Given the description of an element on the screen output the (x, y) to click on. 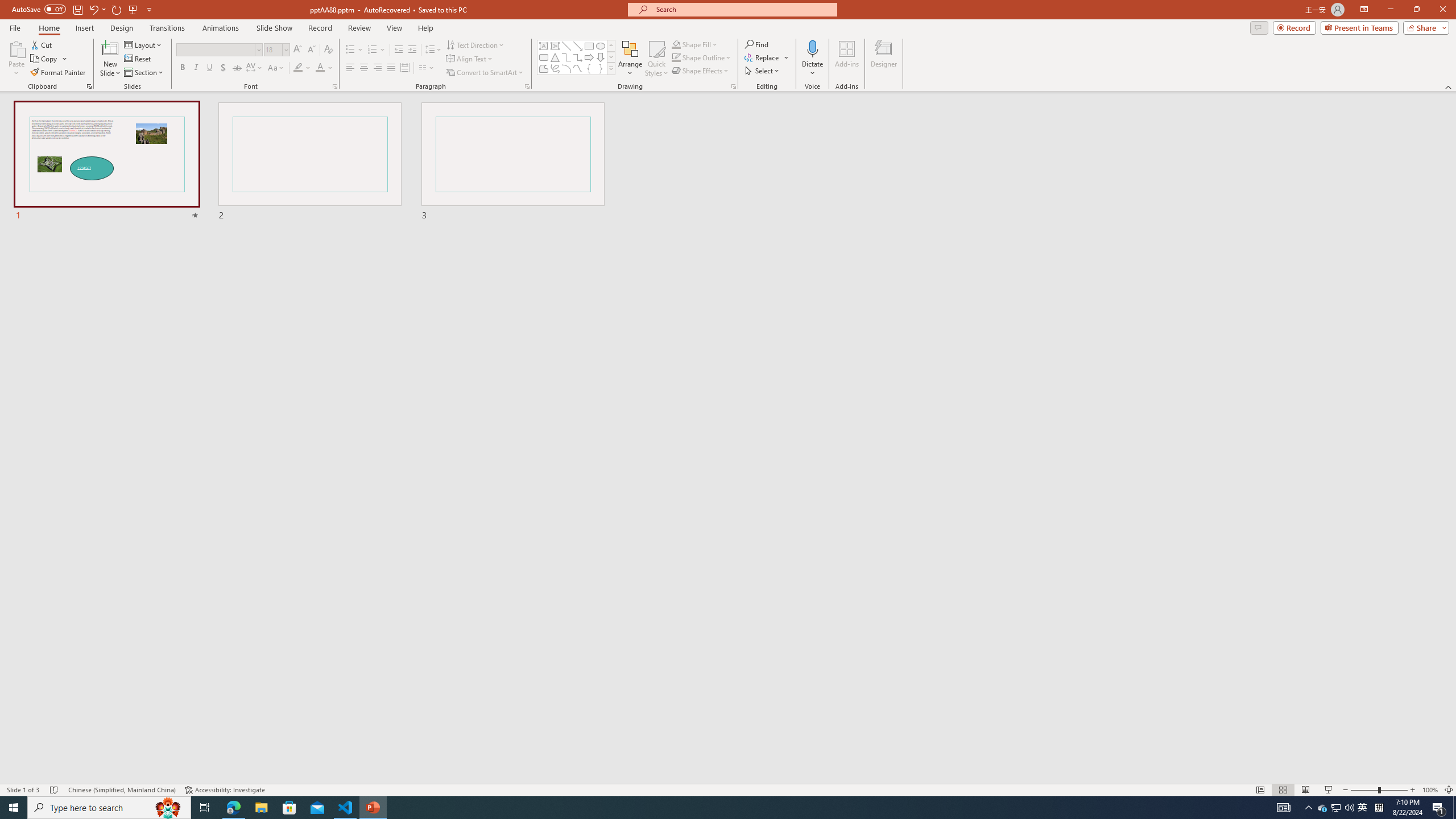
Section (144, 72)
Reset (138, 58)
Text Highlight Color Yellow (297, 67)
Distributed (404, 67)
Paragraph... (526, 85)
Line Spacing (433, 49)
Zoom 100% (1430, 790)
Find... (756, 44)
Freeform: Scribble (554, 68)
